Given the description of an element on the screen output the (x, y) to click on. 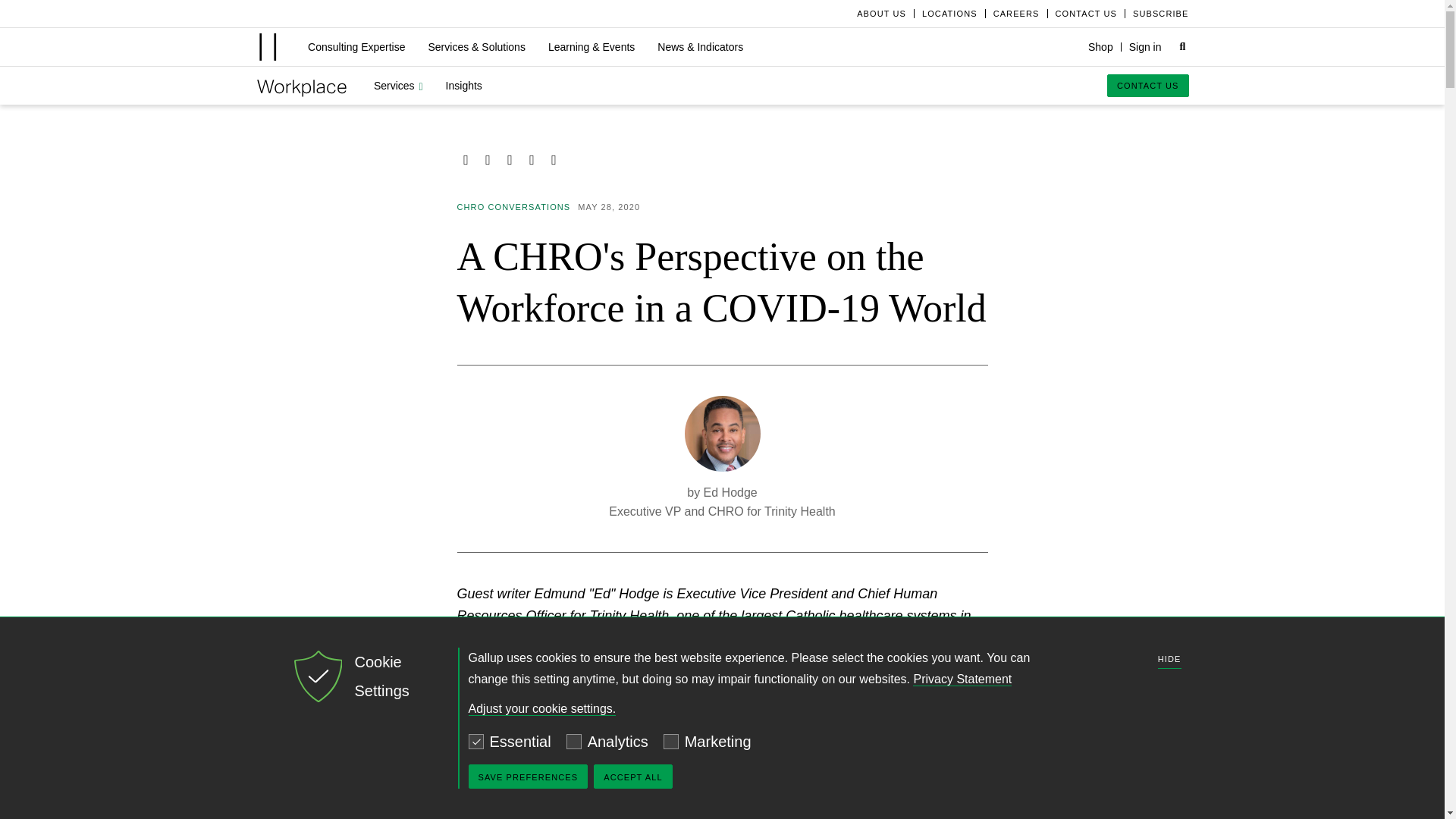
Workplace (301, 86)
LOCATIONS (949, 13)
ABOUT US (881, 13)
SUBSCRIBE (1156, 13)
CAREERS (1015, 13)
CONTACT US (1085, 13)
